Given the description of an element on the screen output the (x, y) to click on. 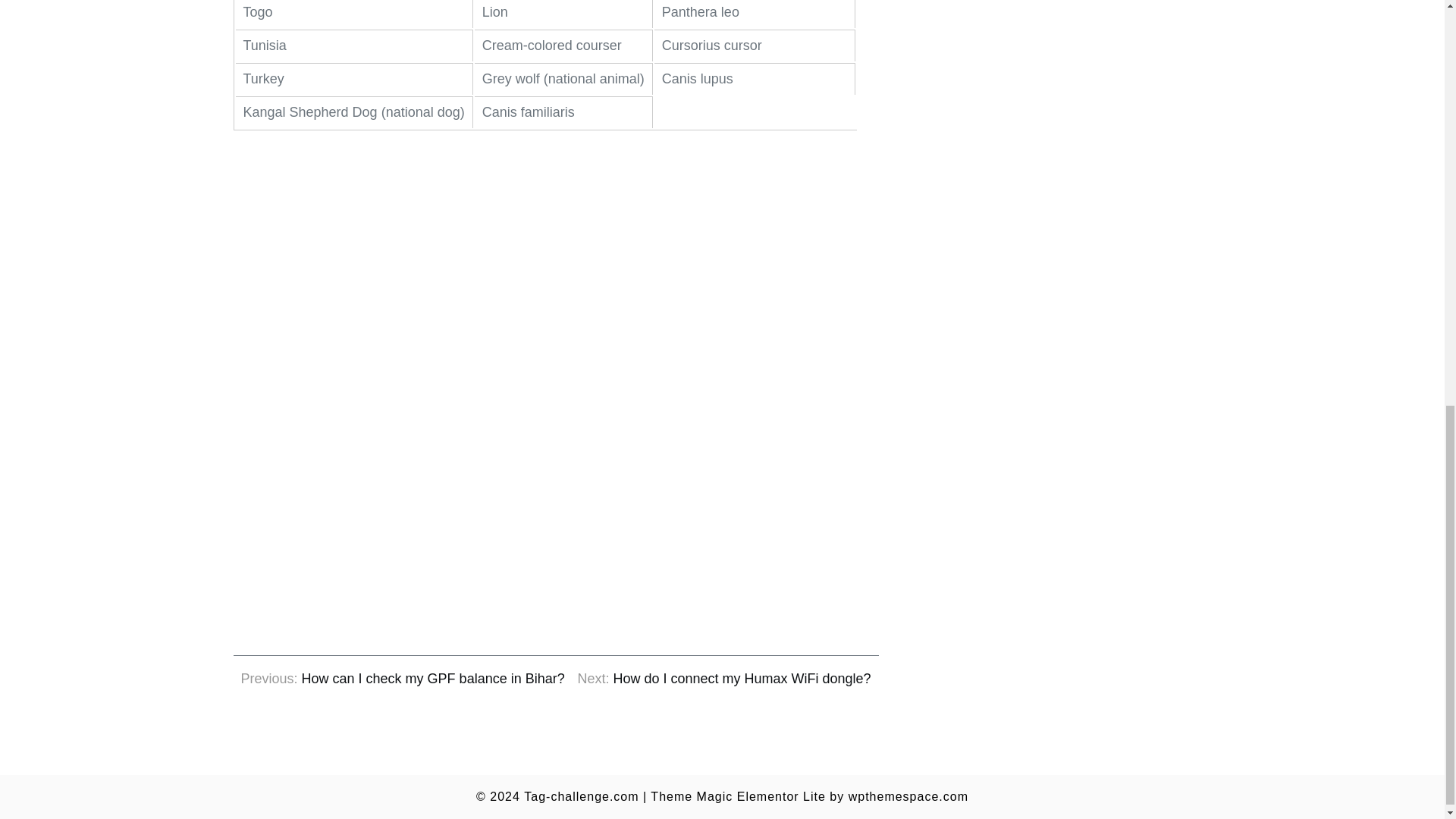
Next: How do I connect my Humax WiFi dongle? (723, 678)
Tag-challenge.com (581, 796)
Previous: How can I check my GPF balance in Bihar? (402, 678)
